Given the description of an element on the screen output the (x, y) to click on. 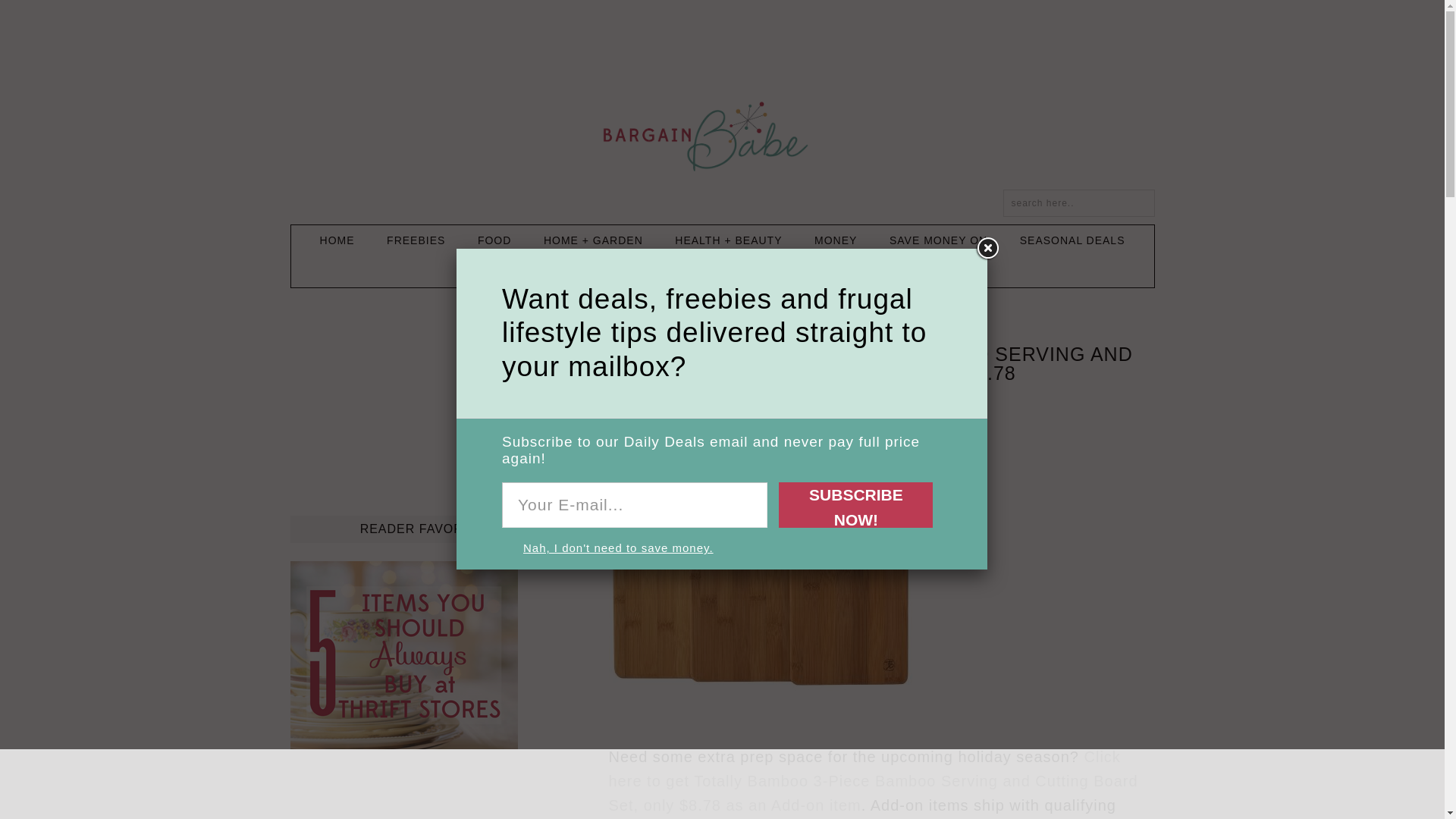
Reader Favorites (402, 743)
FREEBIES (415, 240)
BARGAIN BABE (721, 136)
FOOD (494, 240)
Close (987, 248)
HOME (336, 240)
MONEY (835, 240)
SAVE MONEY ON (938, 240)
